Given the description of an element on the screen output the (x, y) to click on. 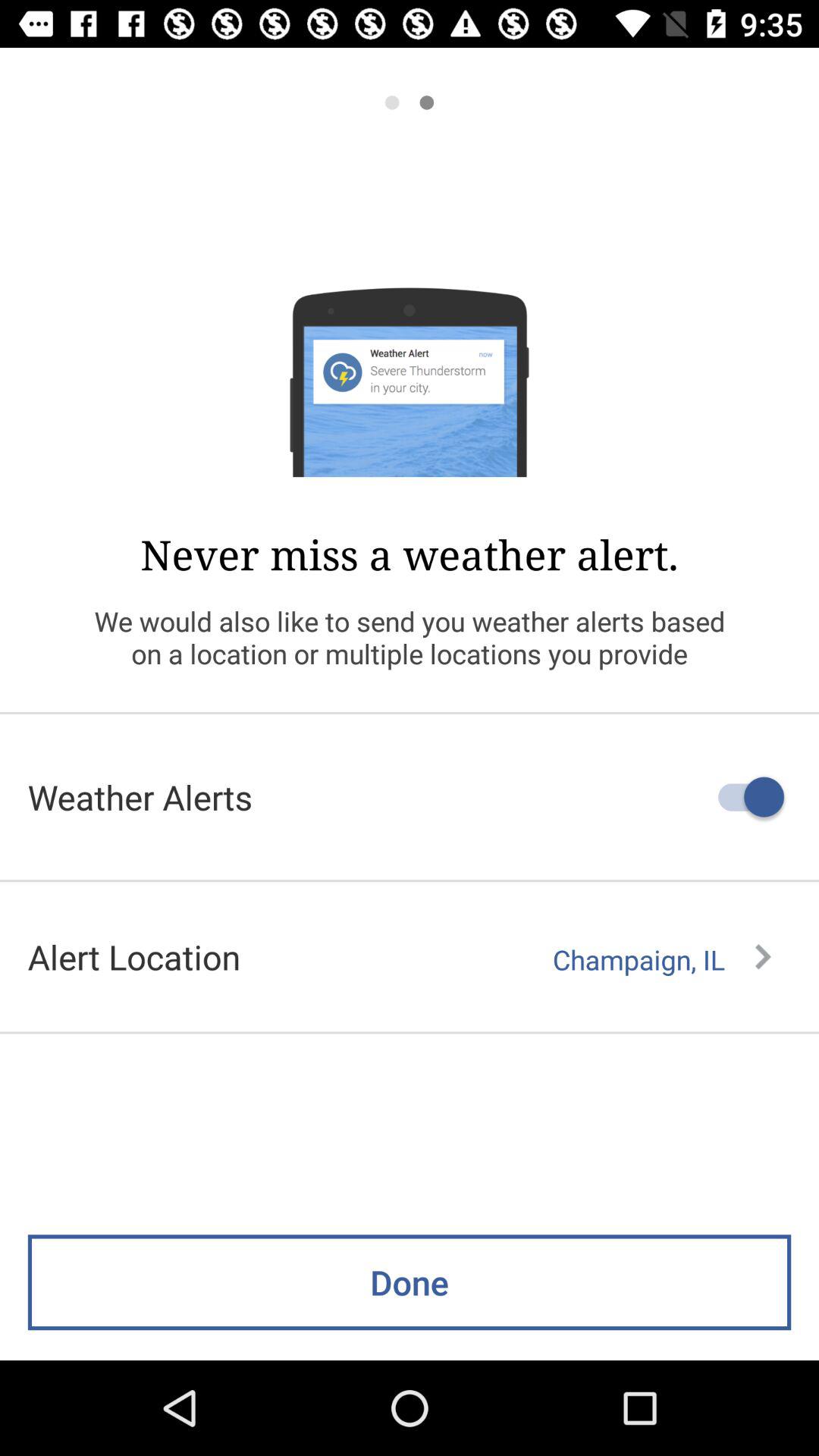
turn on the champaign, il (661, 959)
